Given the description of an element on the screen output the (x, y) to click on. 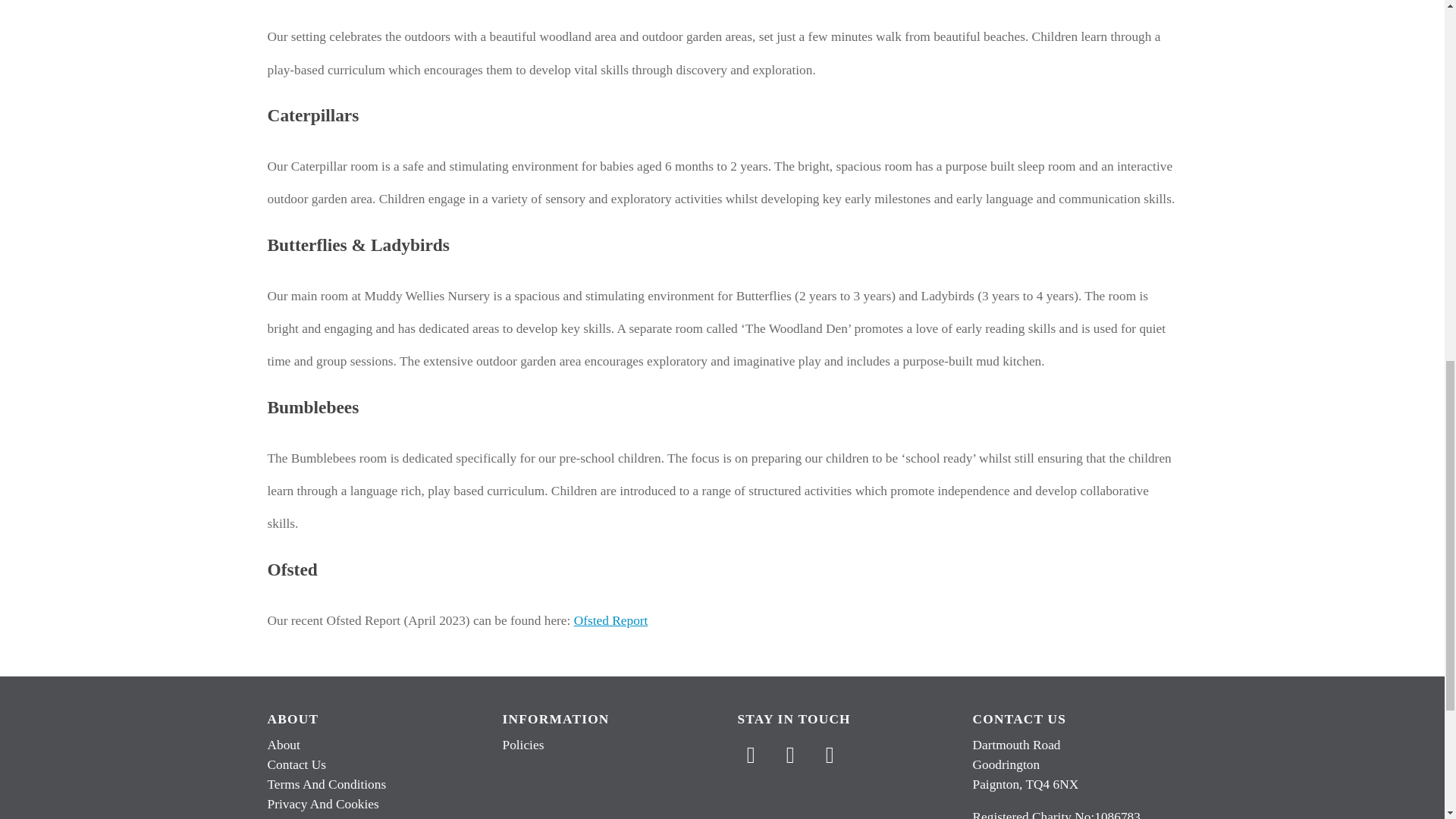
About (282, 744)
Contact Us (296, 764)
Accessibility (300, 817)
Policies (522, 744)
Ofsted Report (610, 620)
Privacy And Cookies (322, 803)
Terms And Conditions (325, 784)
